Given the description of an element on the screen output the (x, y) to click on. 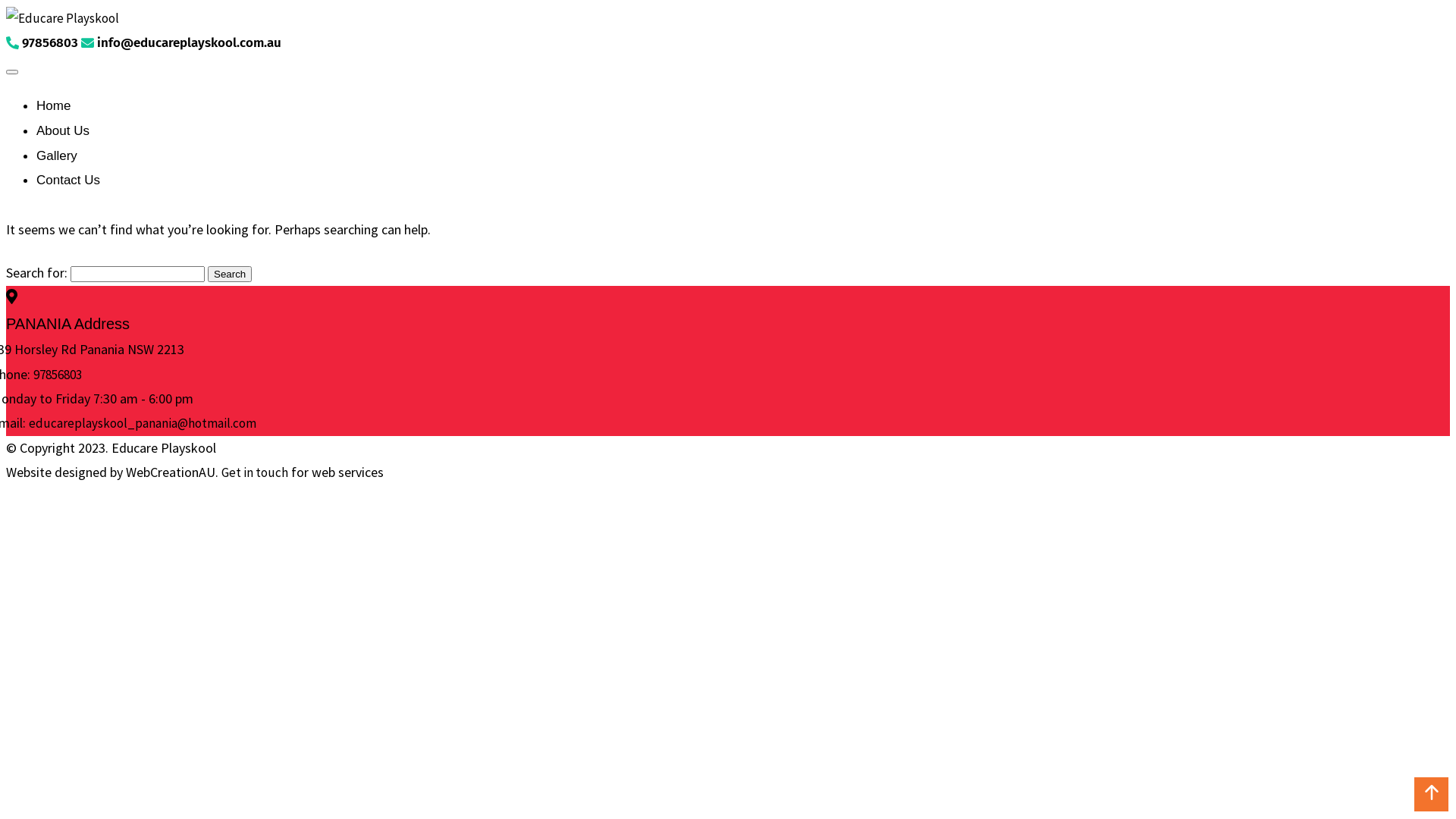
About Us Element type: text (62, 130)
97856803 Element type: text (42, 42)
Contact Us Element type: text (68, 179)
Get in touch Element type: text (254, 472)
Gallery Element type: text (56, 155)
educareplayskool_panania@hotmail.com Element type: text (142, 422)
info@educareplayskool.com.au Element type: text (181, 42)
Educare Playskool Element type: hover (62, 17)
97856803 Element type: text (57, 373)
Home Element type: text (53, 105)
Search Element type: text (229, 274)
